Given the description of an element on the screen output the (x, y) to click on. 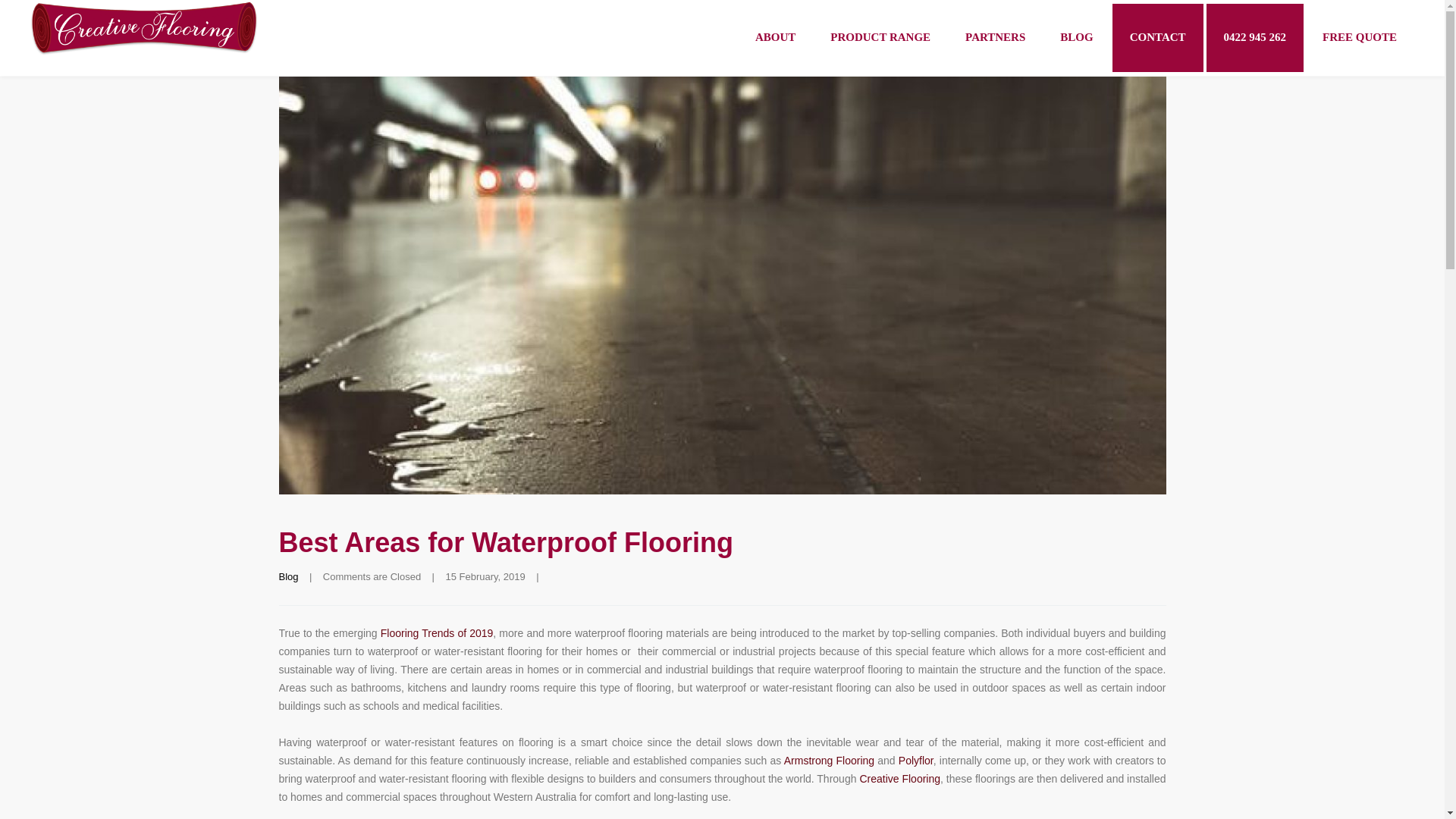
PARTNERS (994, 38)
Polyflor (915, 760)
0422 945 262 (1255, 38)
FREE QUOTE (1358, 38)
Armstrong Flooring (829, 760)
Best Areas for Waterproof Flooring (506, 542)
BLOG (1075, 38)
CONTACT (1158, 38)
ABOUT (775, 38)
Blog (288, 576)
